Given the description of an element on the screen output the (x, y) to click on. 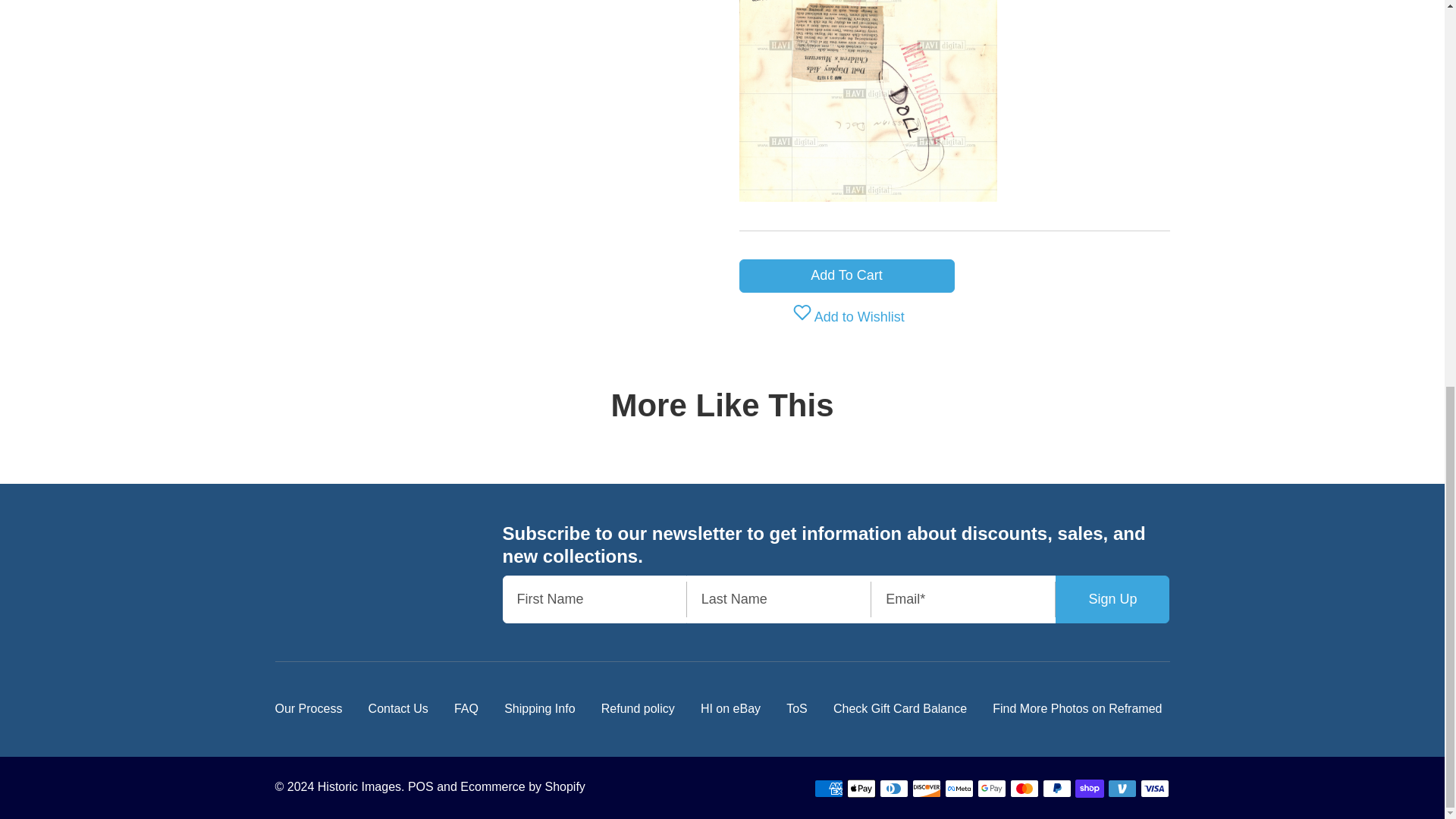
Historic Images (338, 560)
Shop Pay (1089, 788)
Google Pay (991, 788)
Apple Pay (861, 788)
Meta Pay (959, 788)
Mastercard (1024, 788)
Discover (926, 788)
Diners Club (893, 788)
PayPal (1056, 788)
Visa (1154, 788)
American Express (828, 788)
Venmo (1122, 788)
